Given the description of an element on the screen output the (x, y) to click on. 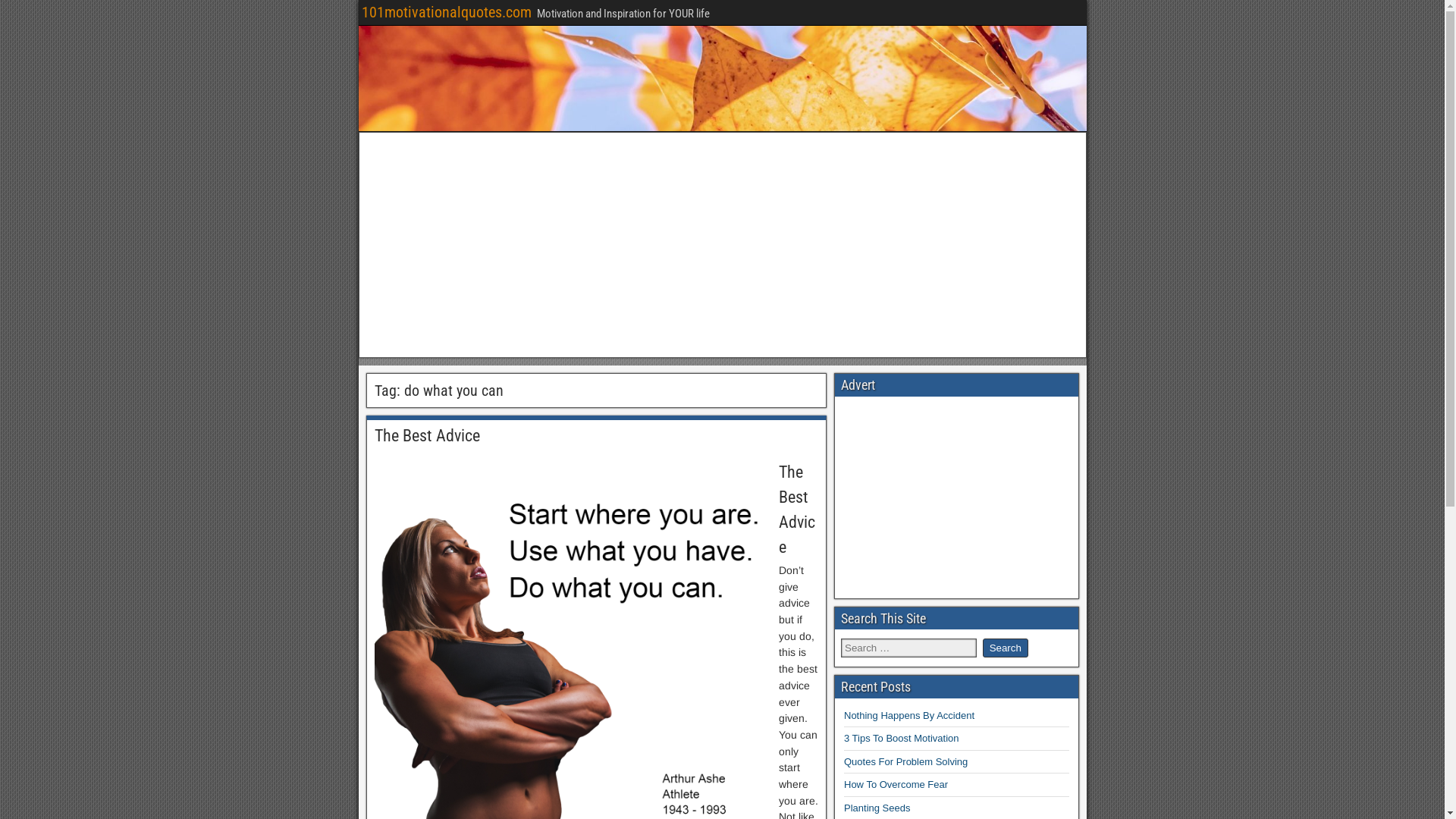
Advertisement Element type: hover (722, 244)
Advertisement Element type: hover (956, 497)
101motivationalquotes.com Element type: text (445, 12)
Nothing Happens By Accident Element type: text (909, 715)
The Best Advice Element type: text (427, 435)
3 Tips To Boost Motivation Element type: text (901, 737)
Planting Seeds Element type: text (877, 807)
Quotes For Problem Solving Element type: text (905, 761)
How To Overcome Fear Element type: text (895, 784)
Search Element type: text (1005, 647)
